Given the description of an element on the screen output the (x, y) to click on. 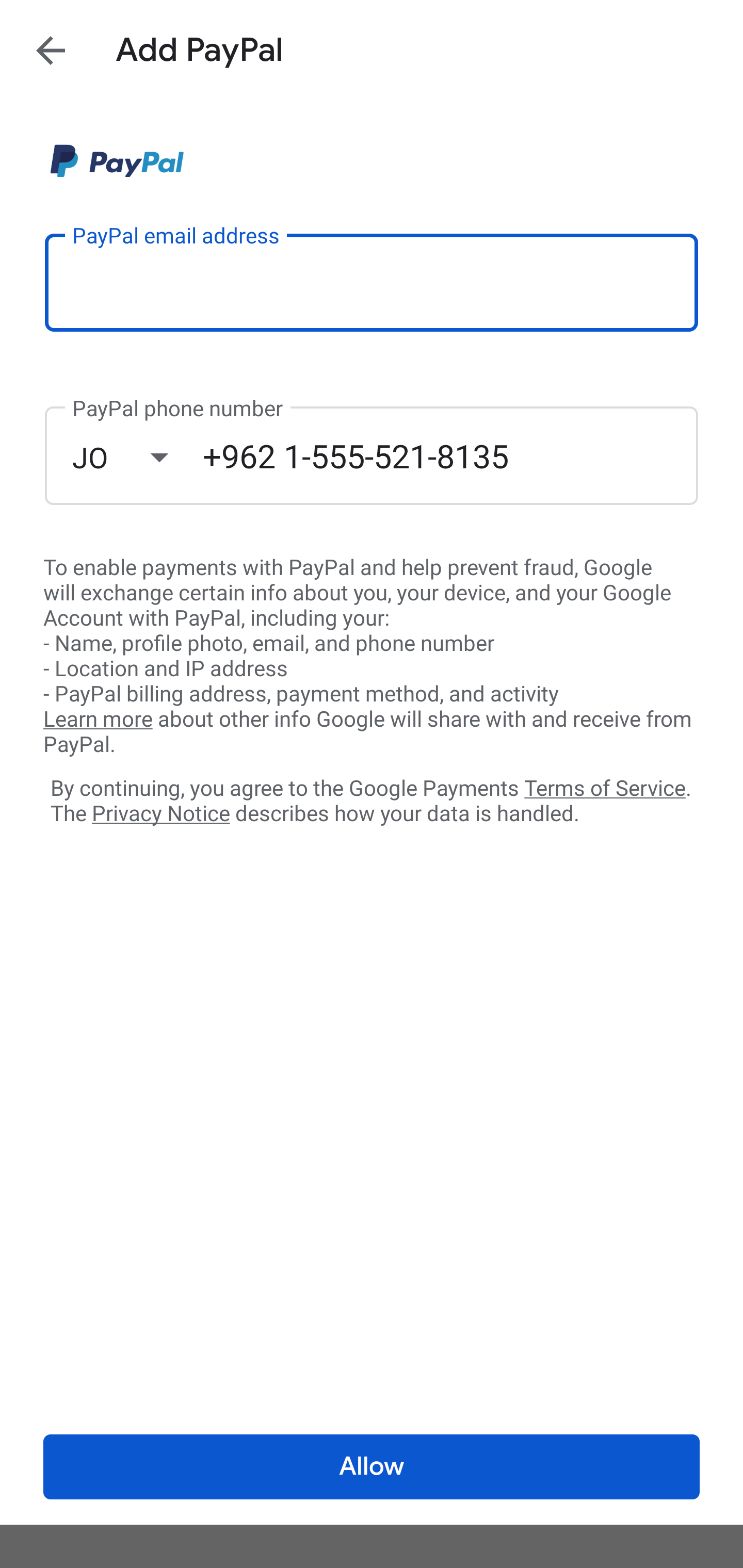
Navigate up (50, 50)
PayPal email address (371, 282)
JO (137, 456)
Learn more (97, 719)
Terms of Service (604, 787)
Privacy Notice (160, 814)
Allow (371, 1466)
